Given the description of an element on the screen output the (x, y) to click on. 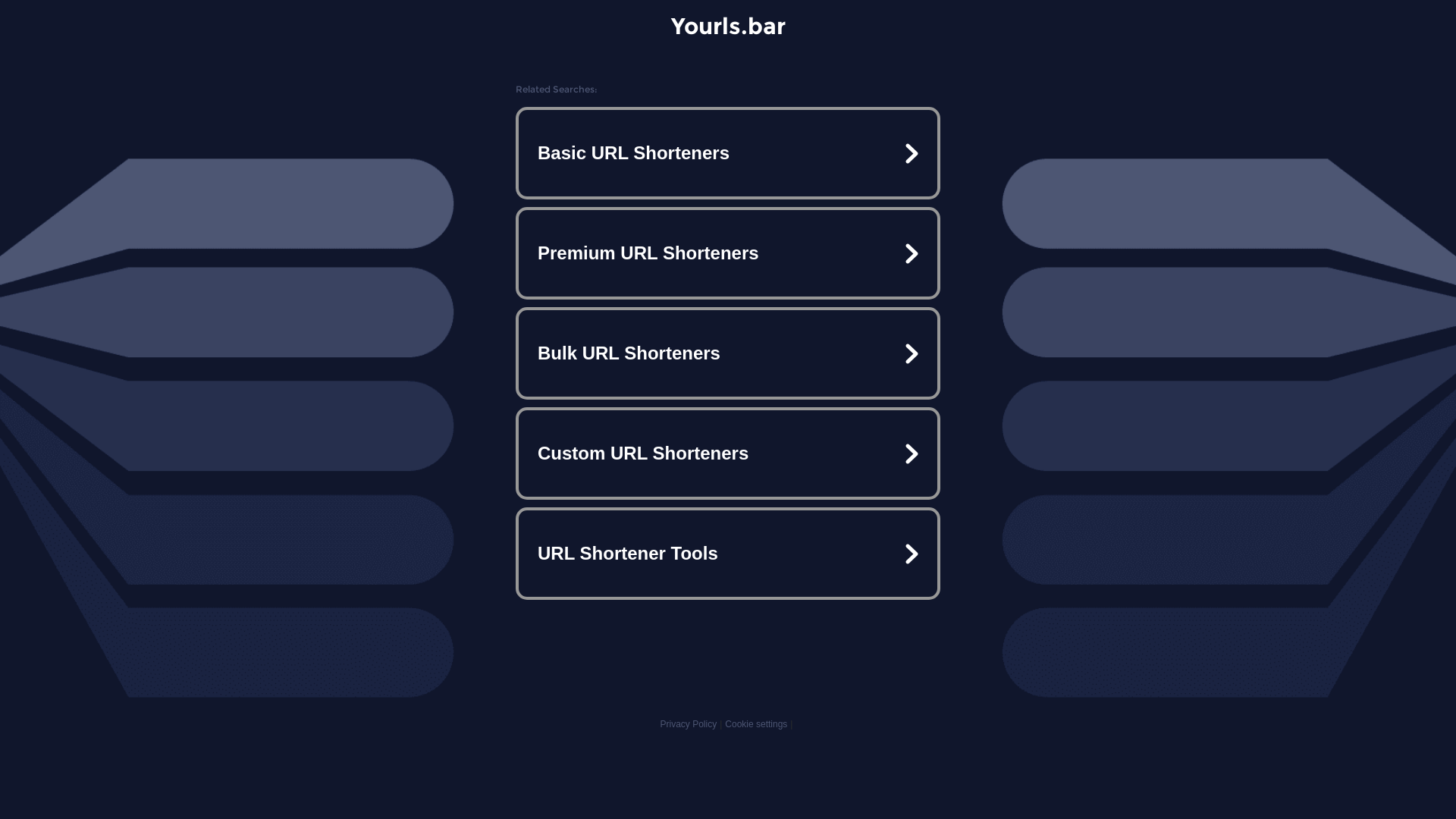
Cookie settings Element type: text (755, 723)
Custom URL Shorteners Element type: text (727, 453)
Premium URL Shorteners Element type: text (727, 253)
Privacy Policy Element type: text (687, 723)
Basic URL Shorteners Element type: text (727, 152)
URL Shortener Tools Element type: text (727, 553)
Bulk URL Shorteners Element type: text (727, 353)
Yourls.bar Element type: text (727, 26)
